Given the description of an element on the screen output the (x, y) to click on. 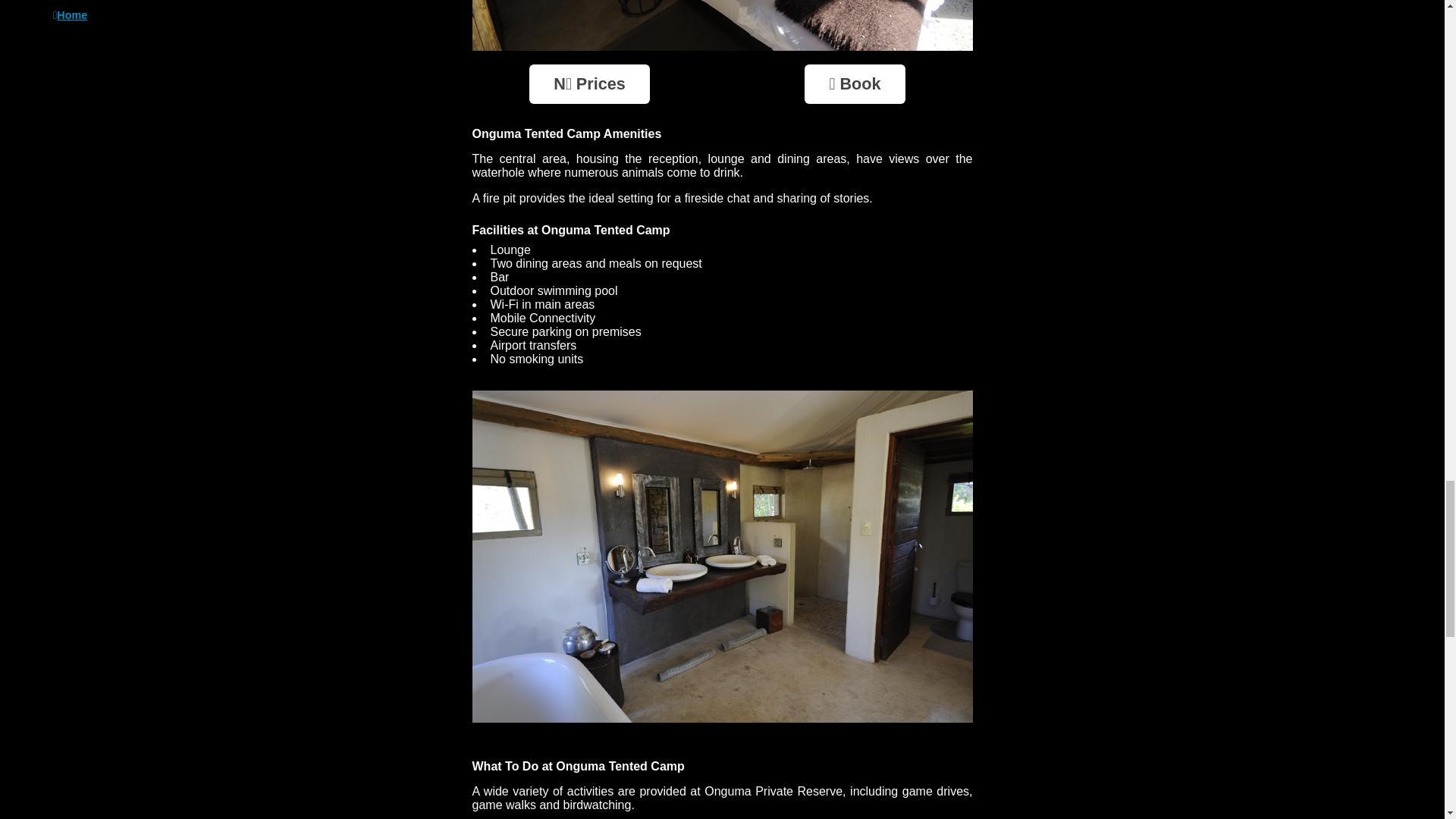
N Prices (589, 84)
Book (855, 84)
